Given the description of an element on the screen output the (x, y) to click on. 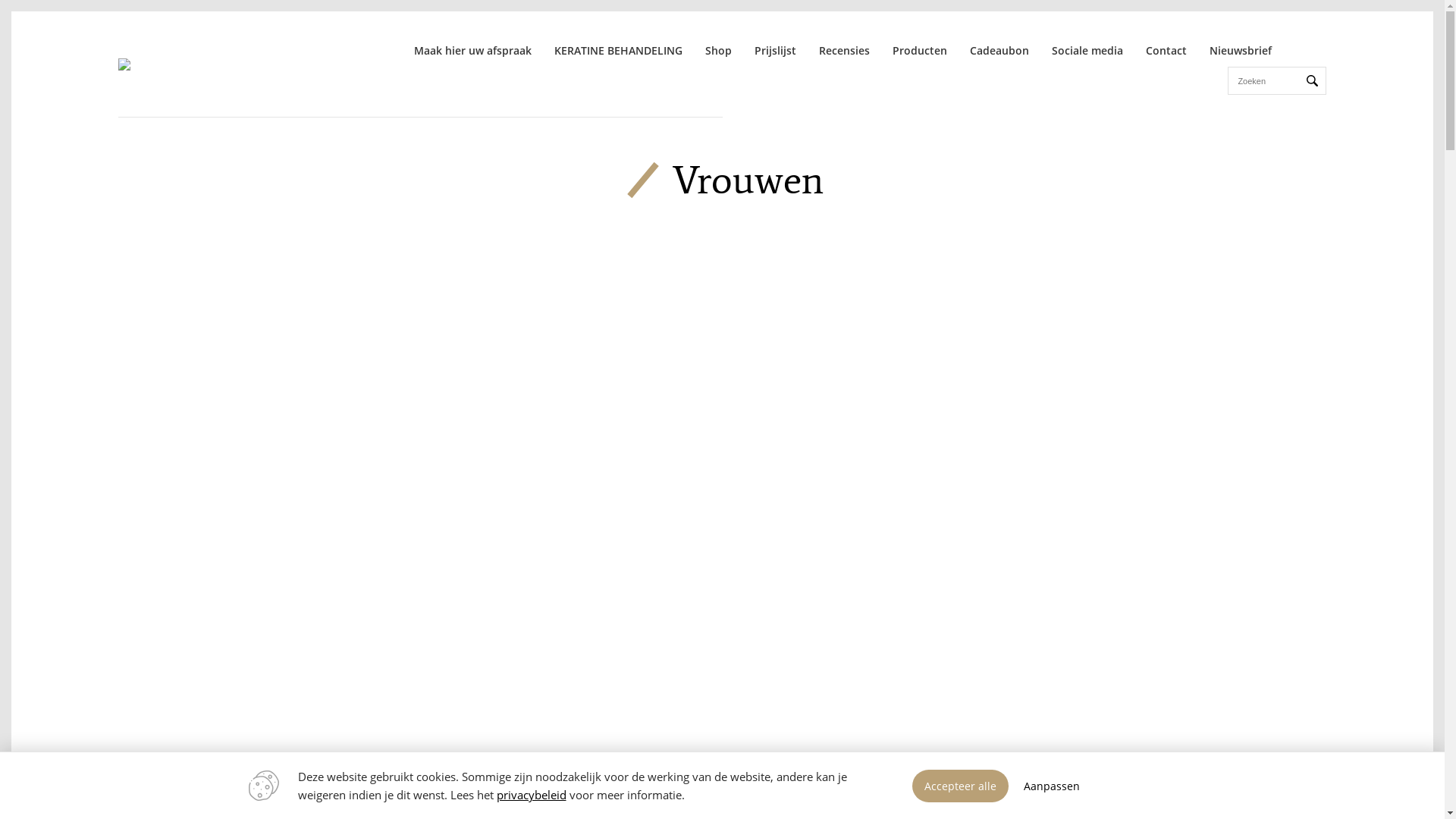
Sociale media Element type: text (1086, 50)
Contact Element type: text (1165, 50)
Producten Element type: text (919, 50)
privacybeleid Element type: text (530, 794)
Nieuwsbrief Element type: text (1240, 50)
KERATINE BEHANDELING Element type: text (618, 50)
Maak hier uw afspraak Element type: text (472, 50)
Recensies Element type: text (844, 50)
Shop Element type: text (718, 50)
Aanpassen Element type: text (1051, 784)
Cadeaubon Element type: text (999, 50)
Accepteer alle Element type: text (959, 784)
Prijslijst Element type: text (775, 50)
